Given the description of an element on the screen output the (x, y) to click on. 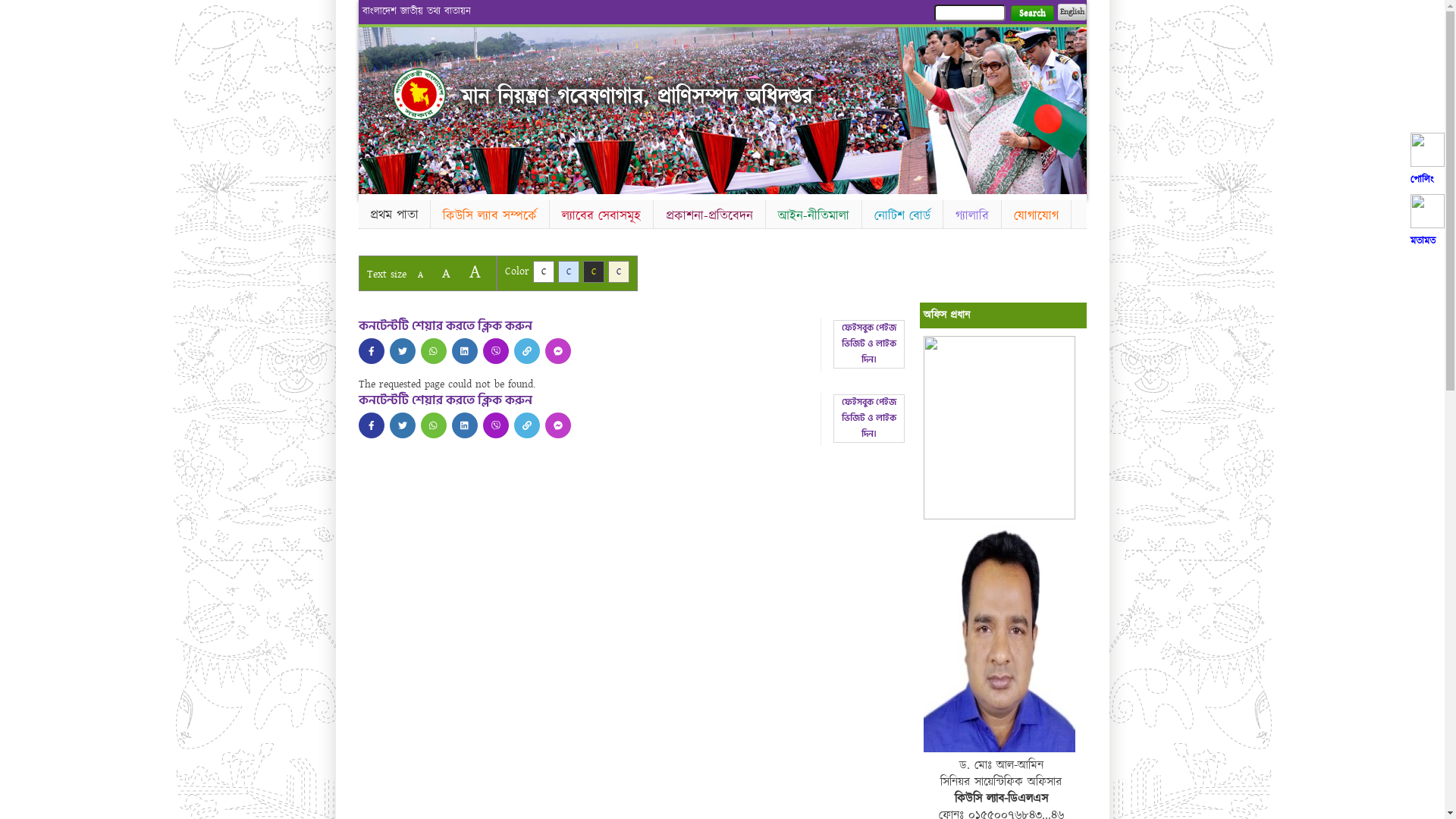
Search Element type: text (1031, 13)
C Element type: text (542, 271)
A Element type: text (445, 273)
Home Element type: hover (418, 93)
C Element type: text (592, 271)
English Element type: text (1071, 11)
C Element type: text (618, 271)
C Element type: text (568, 271)
A Element type: text (419, 274)
A Element type: text (474, 271)
